Given the description of an element on the screen output the (x, y) to click on. 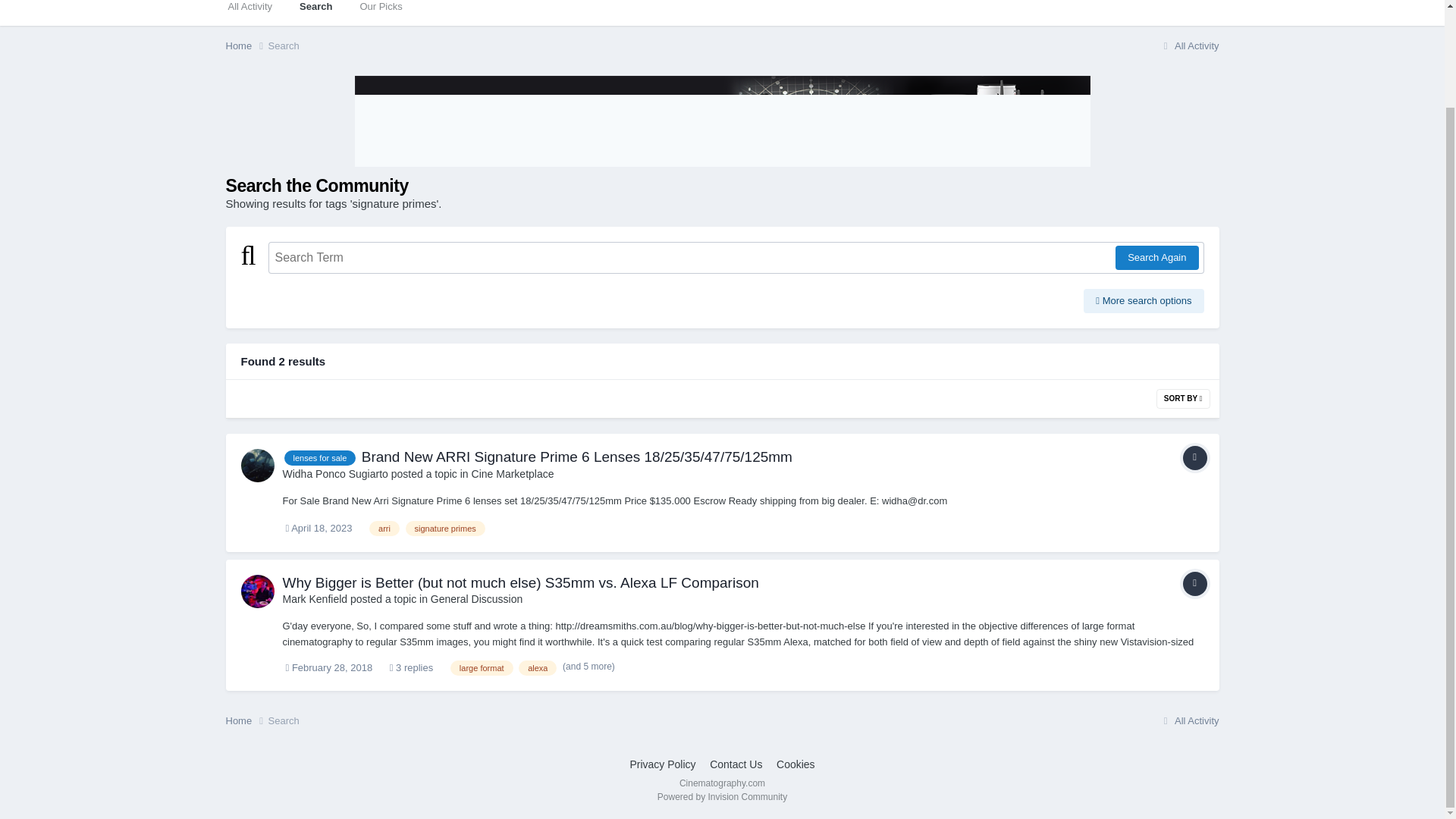
All Activity (249, 12)
Topic (1194, 583)
Go to Widha Ponco Sugiarto's profile (334, 473)
Home (246, 46)
Topic (1194, 457)
Find other content tagged with 'alexa' (537, 667)
Go to Mark Kenfield's profile (258, 591)
Go to Widha Ponco Sugiarto's profile (258, 465)
Search (315, 12)
Go to Mark Kenfield's profile (314, 598)
